Given the description of an element on the screen output the (x, y) to click on. 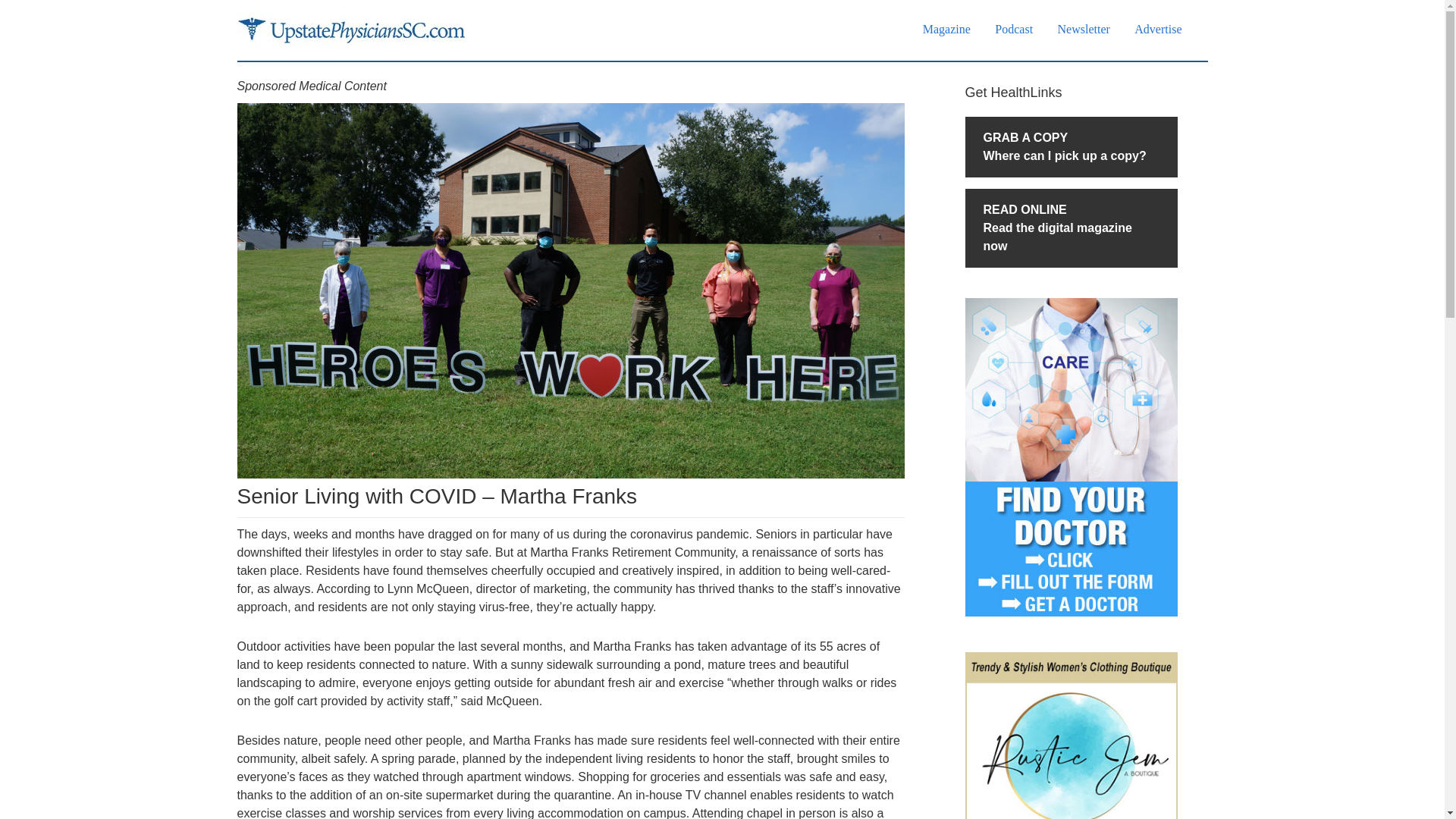
Advertise (1069, 228)
Skip to main content (1158, 29)
Upstate Physicians (946, 29)
Podcast (349, 30)
Newsletter (1069, 147)
